Given the description of an element on the screen output the (x, y) to click on. 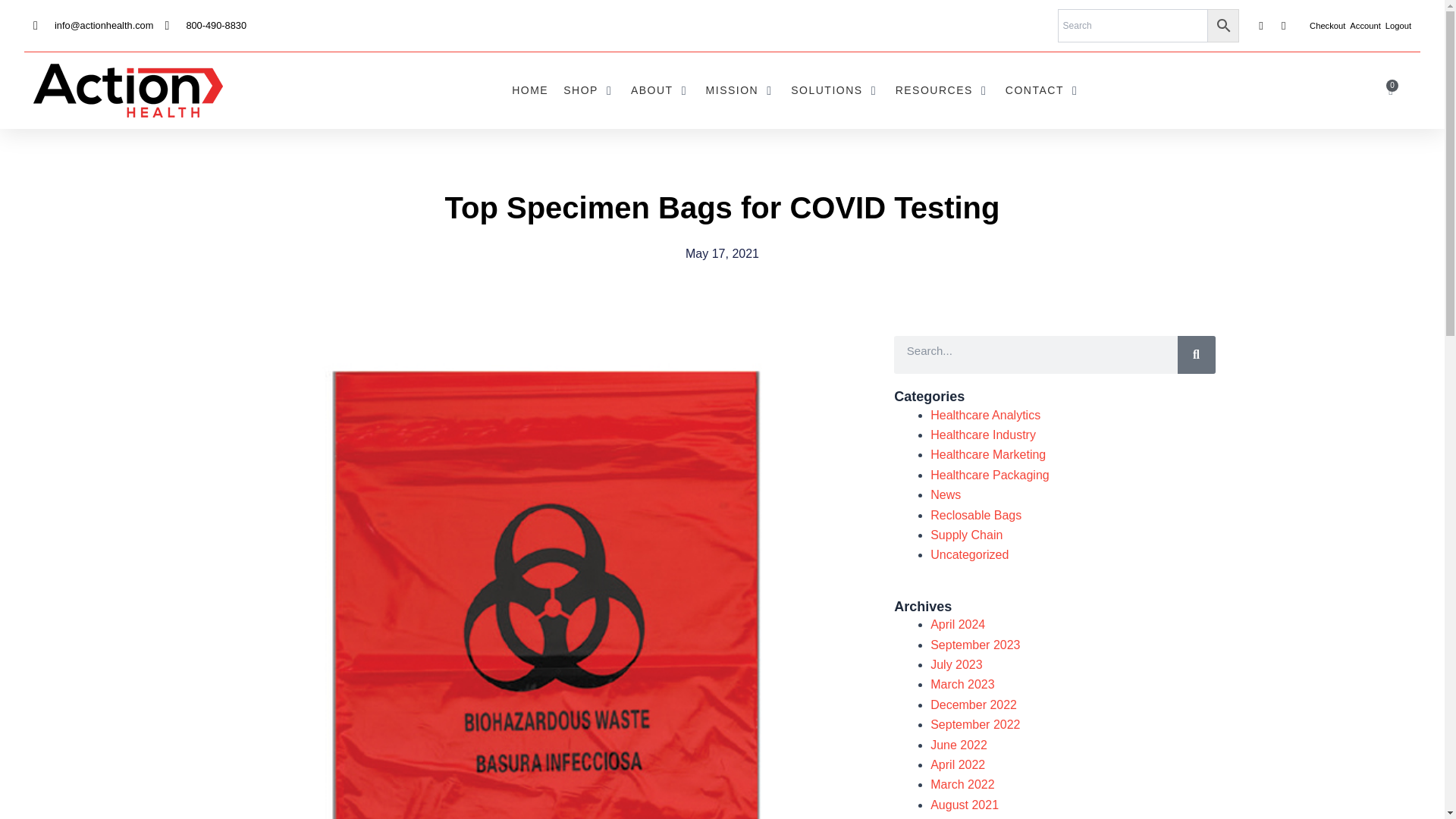
HOME (530, 90)
Account (1364, 25)
Logout (1398, 25)
800-490-8830 (205, 25)
Checkout (1326, 25)
SHOP (580, 90)
